Given the description of an element on the screen output the (x, y) to click on. 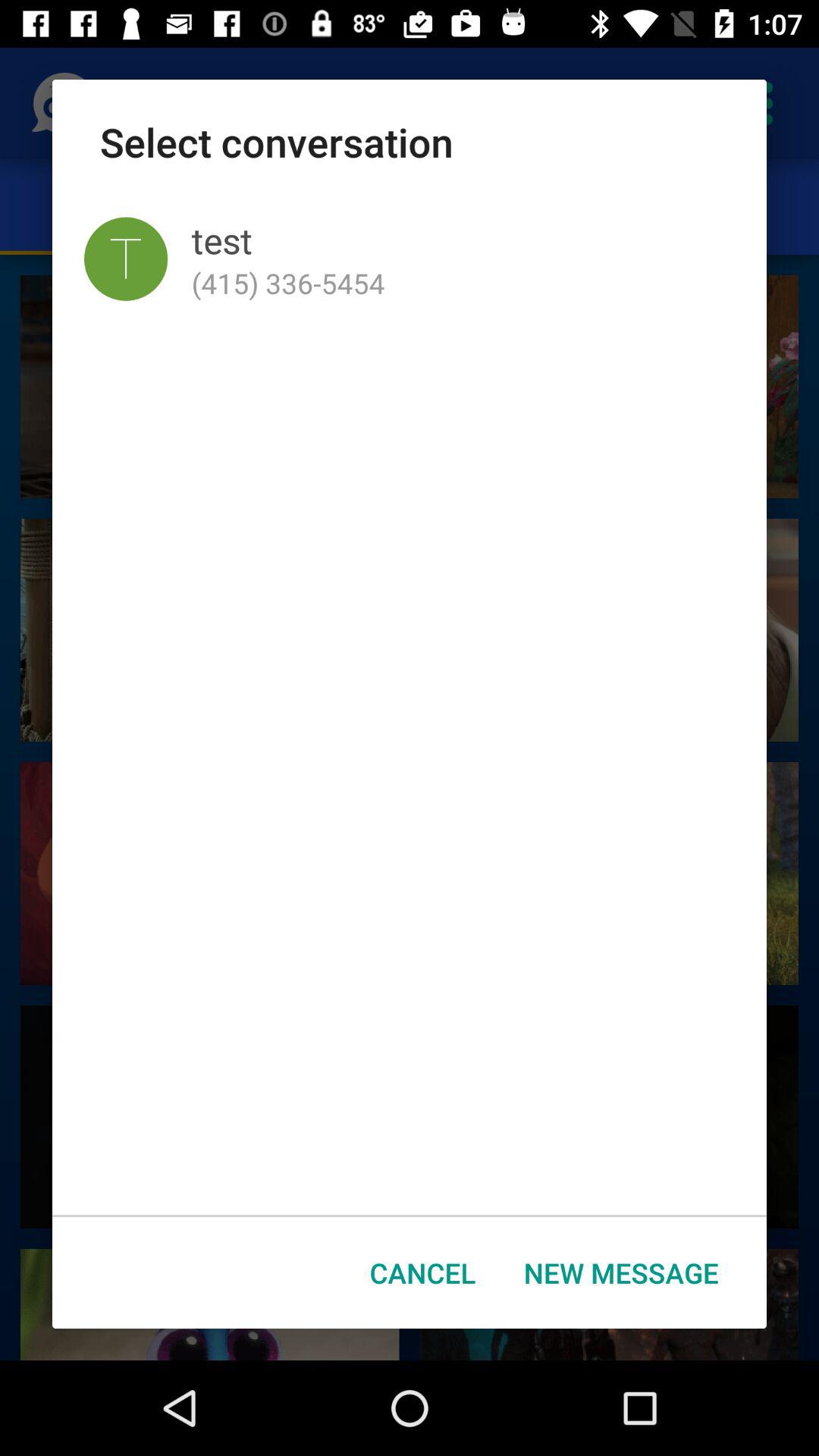
turn on the icon at the bottom right corner (620, 1272)
